Given the description of an element on the screen output the (x, y) to click on. 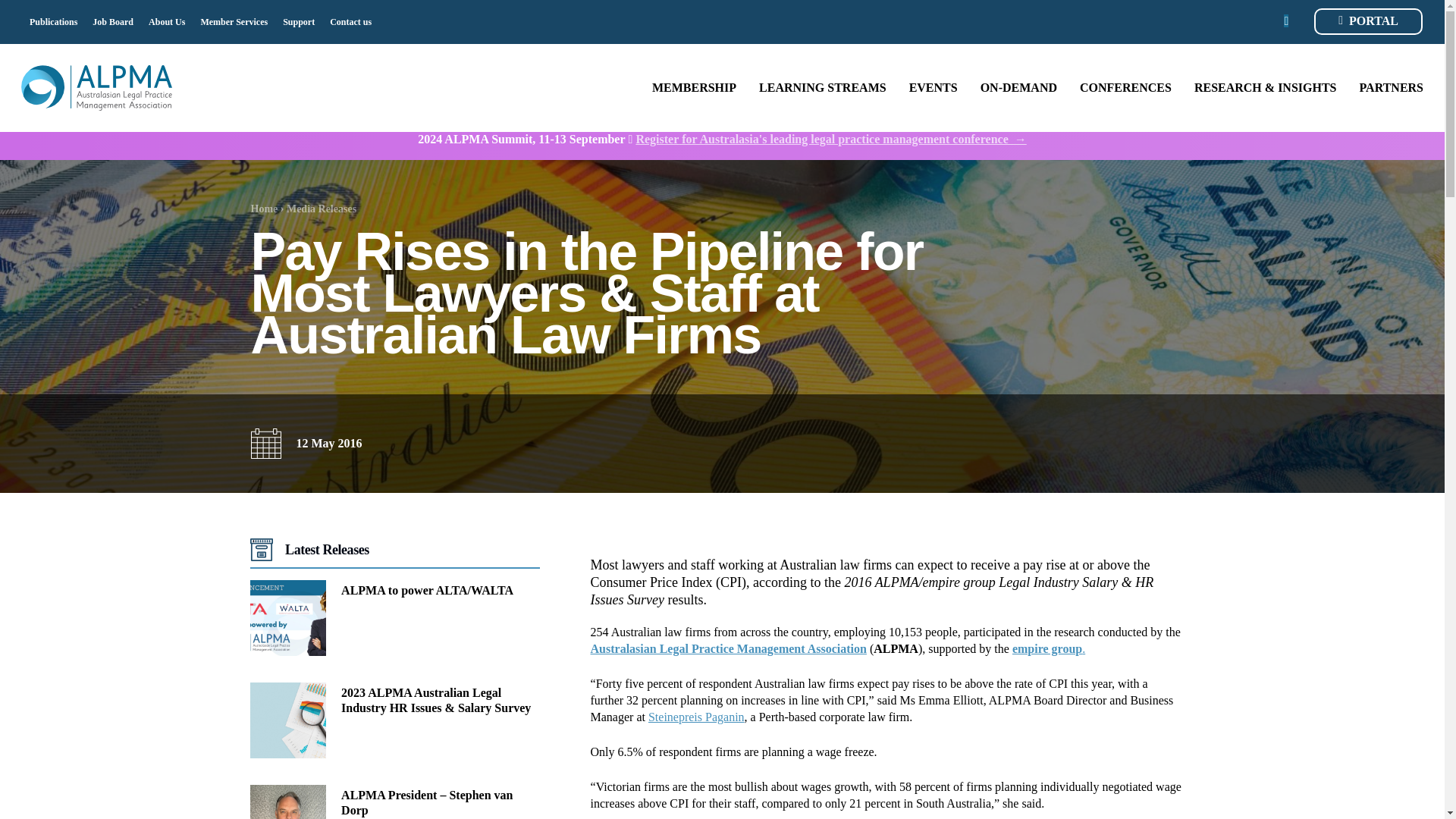
Contact us (350, 21)
Job Board (113, 21)
link to empire group website (1047, 648)
Member Services (233, 21)
MEMBERSHIP (694, 87)
link to ALPMA website (728, 648)
Support (298, 21)
link to Seinepreis Paganin website (695, 716)
Publications (53, 21)
PORTAL (1368, 21)
